Given the description of an element on the screen output the (x, y) to click on. 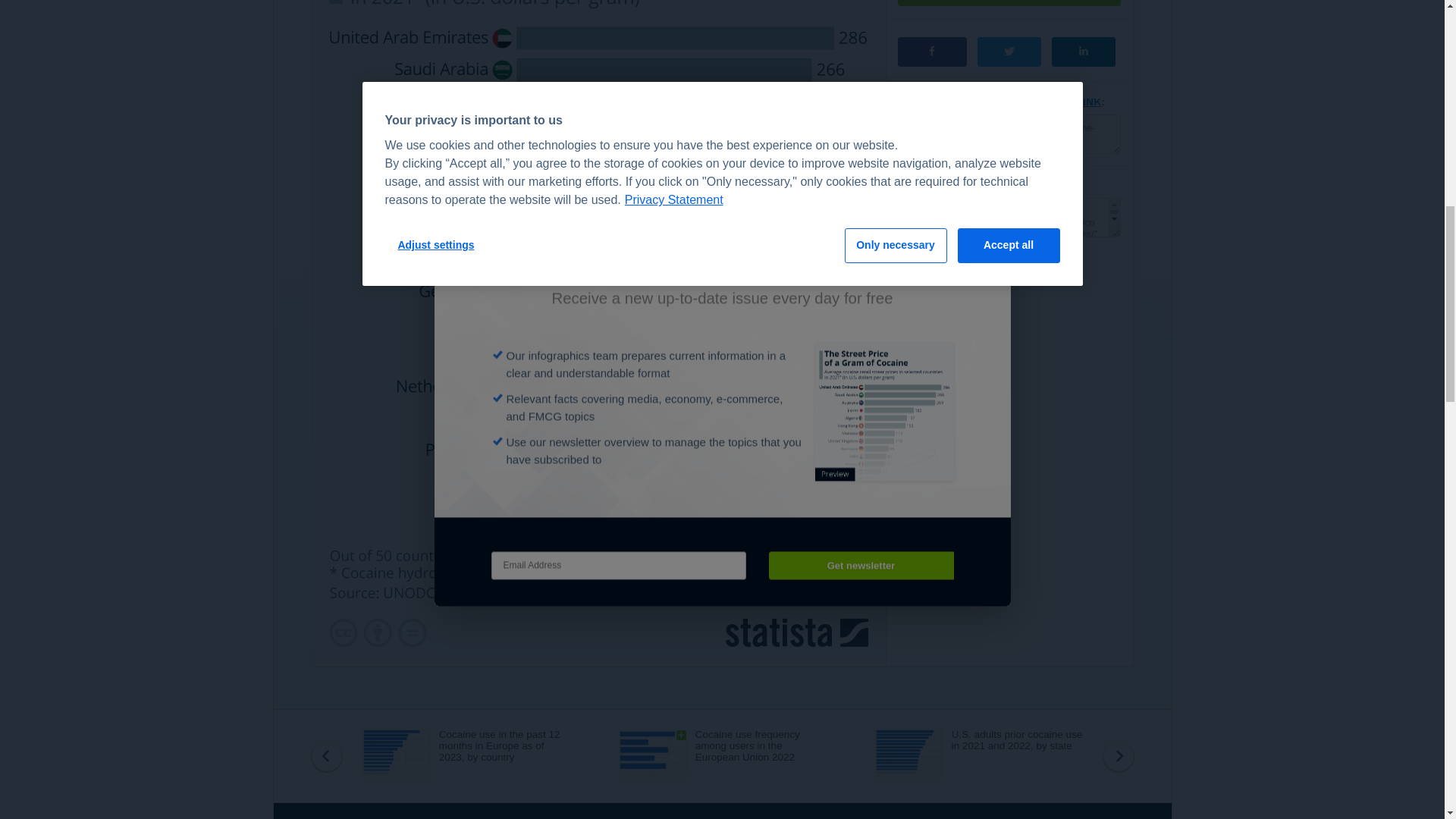
Share on LinkedIn (1083, 51)
Share on Facebook (932, 51)
Download Chart (1009, 2)
Share on Twitter (1008, 51)
